Given the description of an element on the screen output the (x, y) to click on. 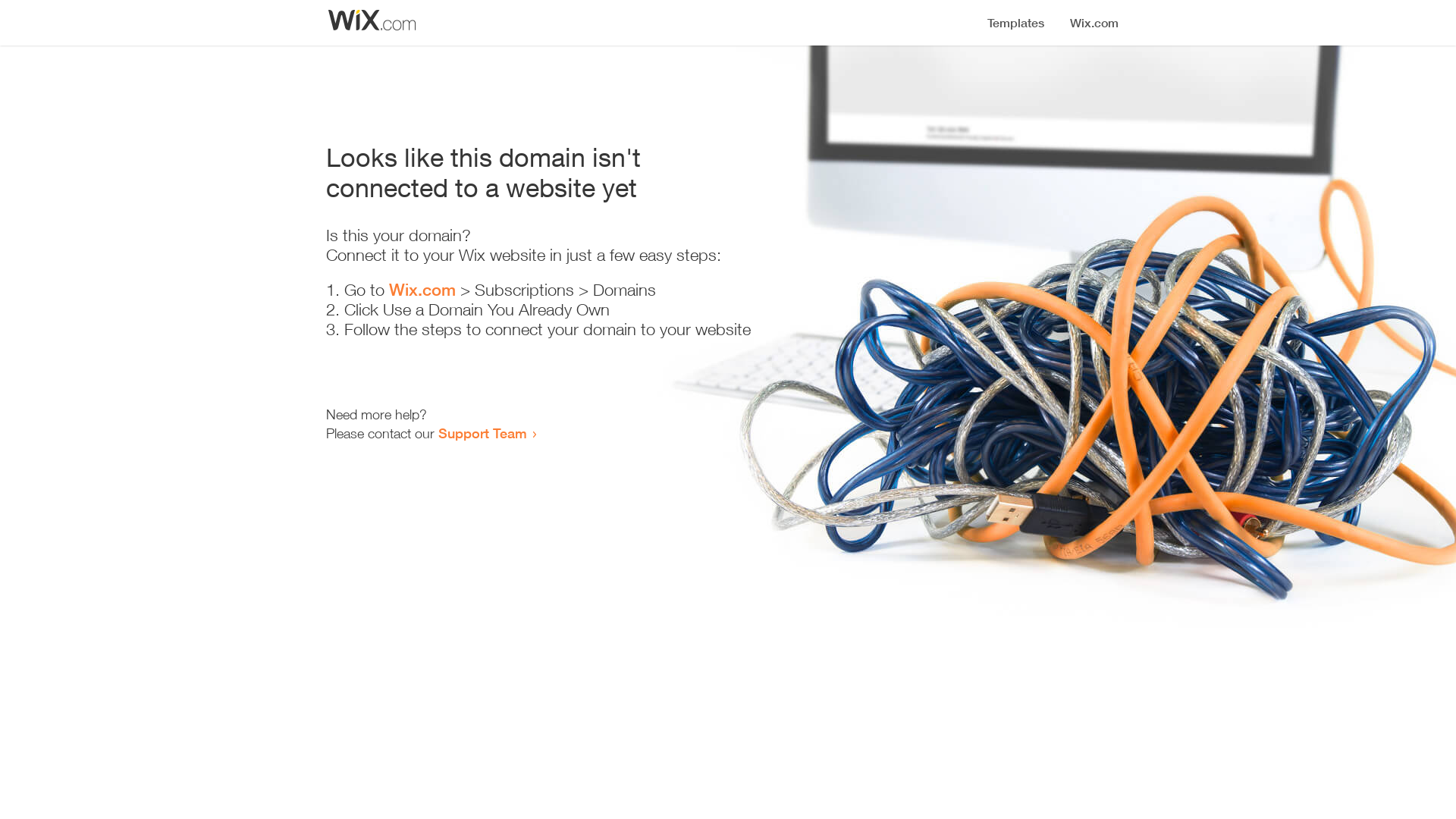
Support Team Element type: text (482, 432)
Wix.com Element type: text (422, 289)
